Given the description of an element on the screen output the (x, y) to click on. 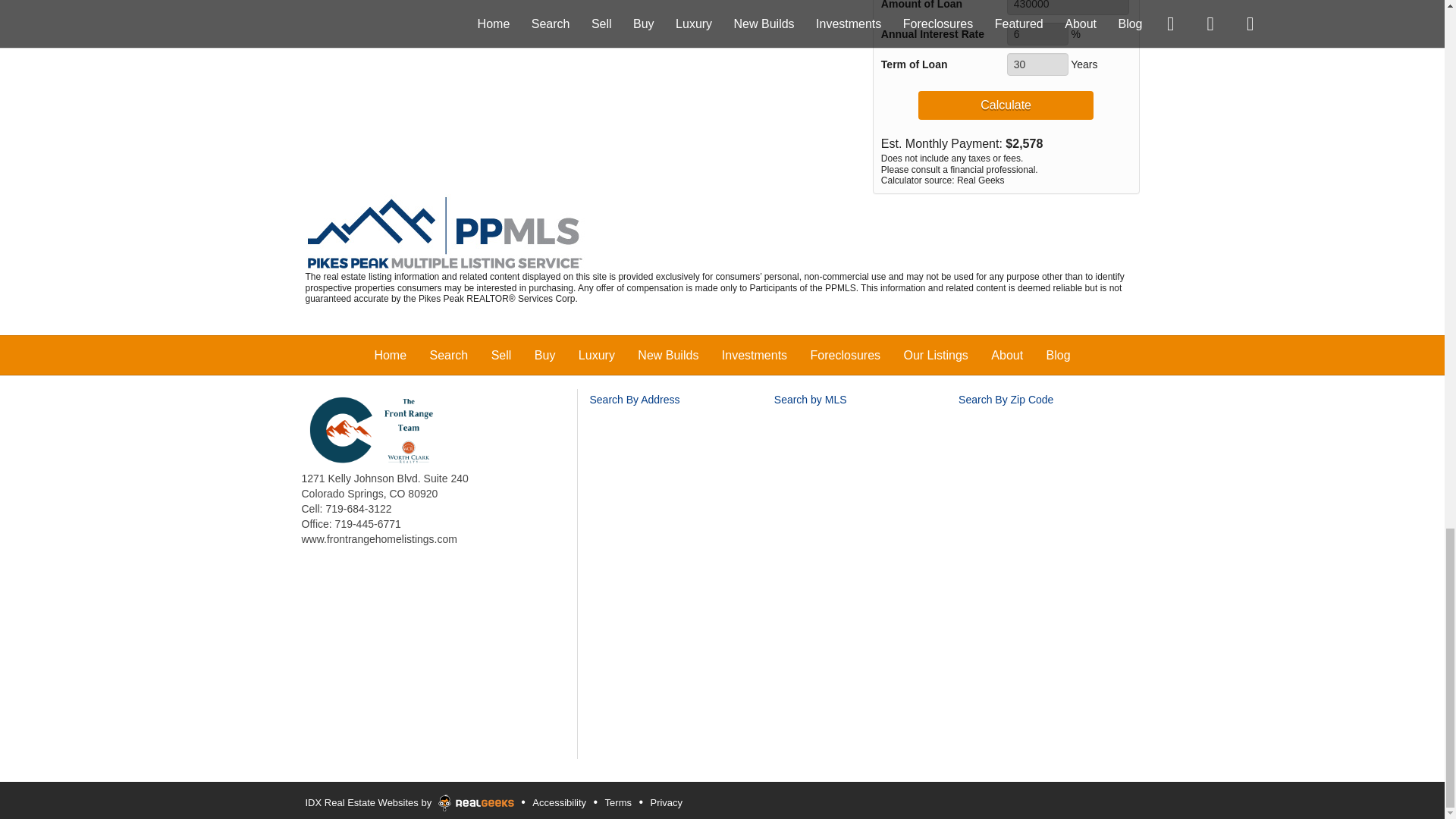
30 (1037, 64)
6 (1037, 33)
430000 (1068, 7)
